Given the description of an element on the screen output the (x, y) to click on. 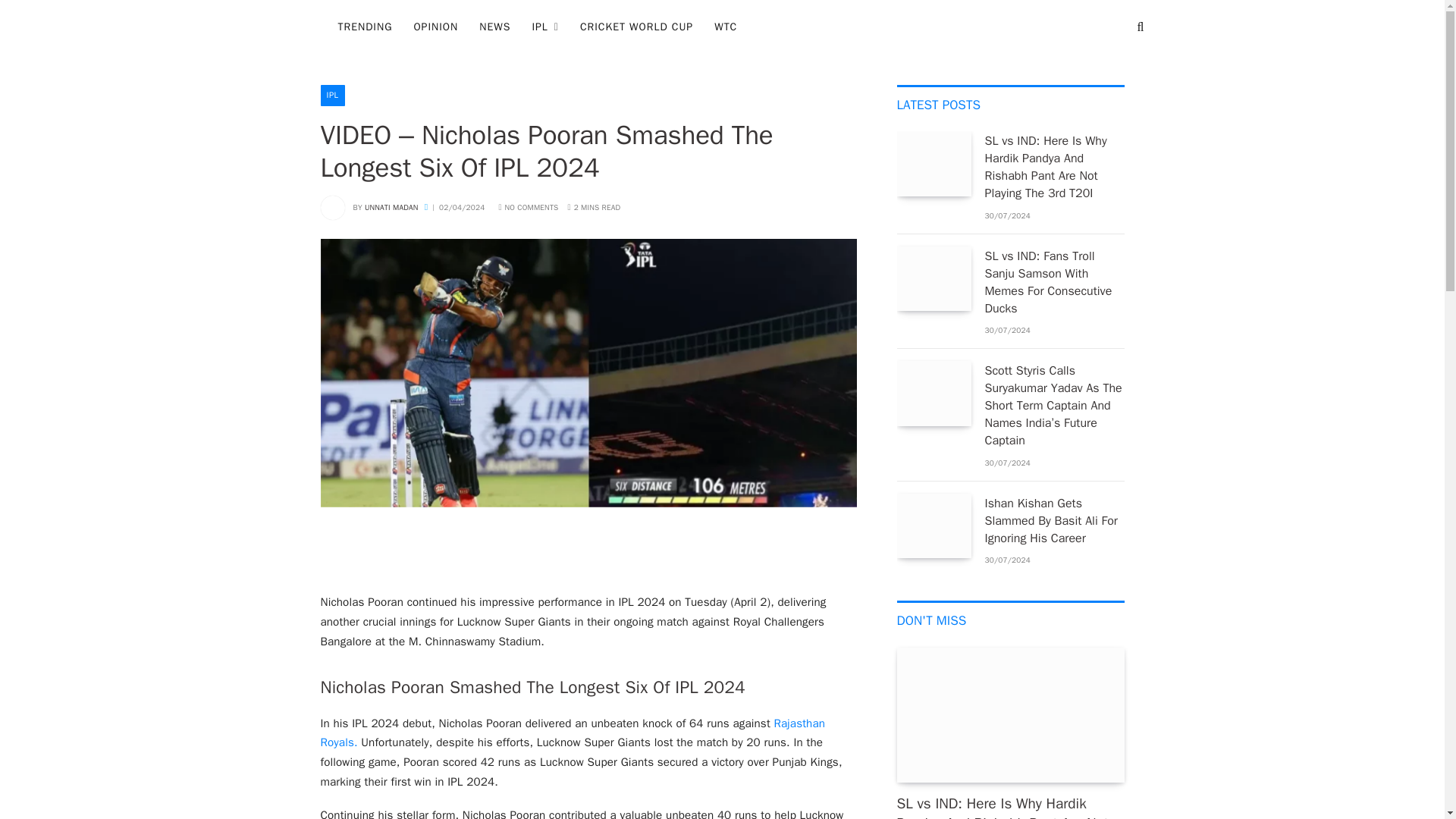
Posts by Unnati Madan (392, 207)
TRENDING (365, 27)
IPL (331, 95)
UNNATI MADAN (392, 207)
CRICKET WORLD CUP (636, 27)
OPINION (435, 27)
Rajasthan Royals. (572, 733)
NO COMMENTS (527, 207)
IPL (545, 27)
NEWS (494, 27)
